Given the description of an element on the screen output the (x, y) to click on. 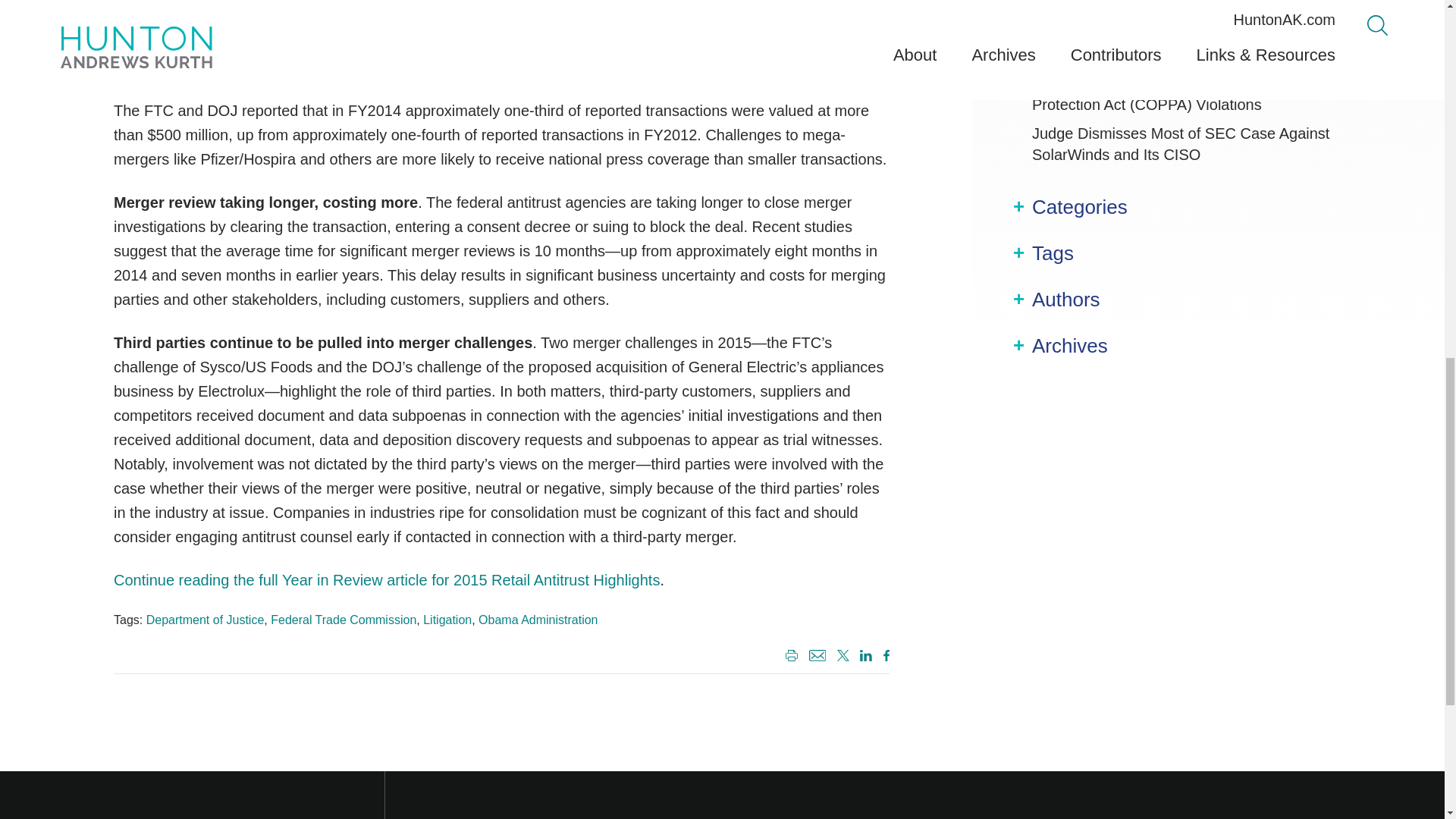
Federal Trade Commission (343, 619)
Facebook (882, 656)
Email (818, 655)
Linkedin (863, 656)
Categories (1079, 207)
Litigation (447, 619)
Obama Administration (537, 619)
Print (788, 656)
